Given the description of an element on the screen output the (x, y) to click on. 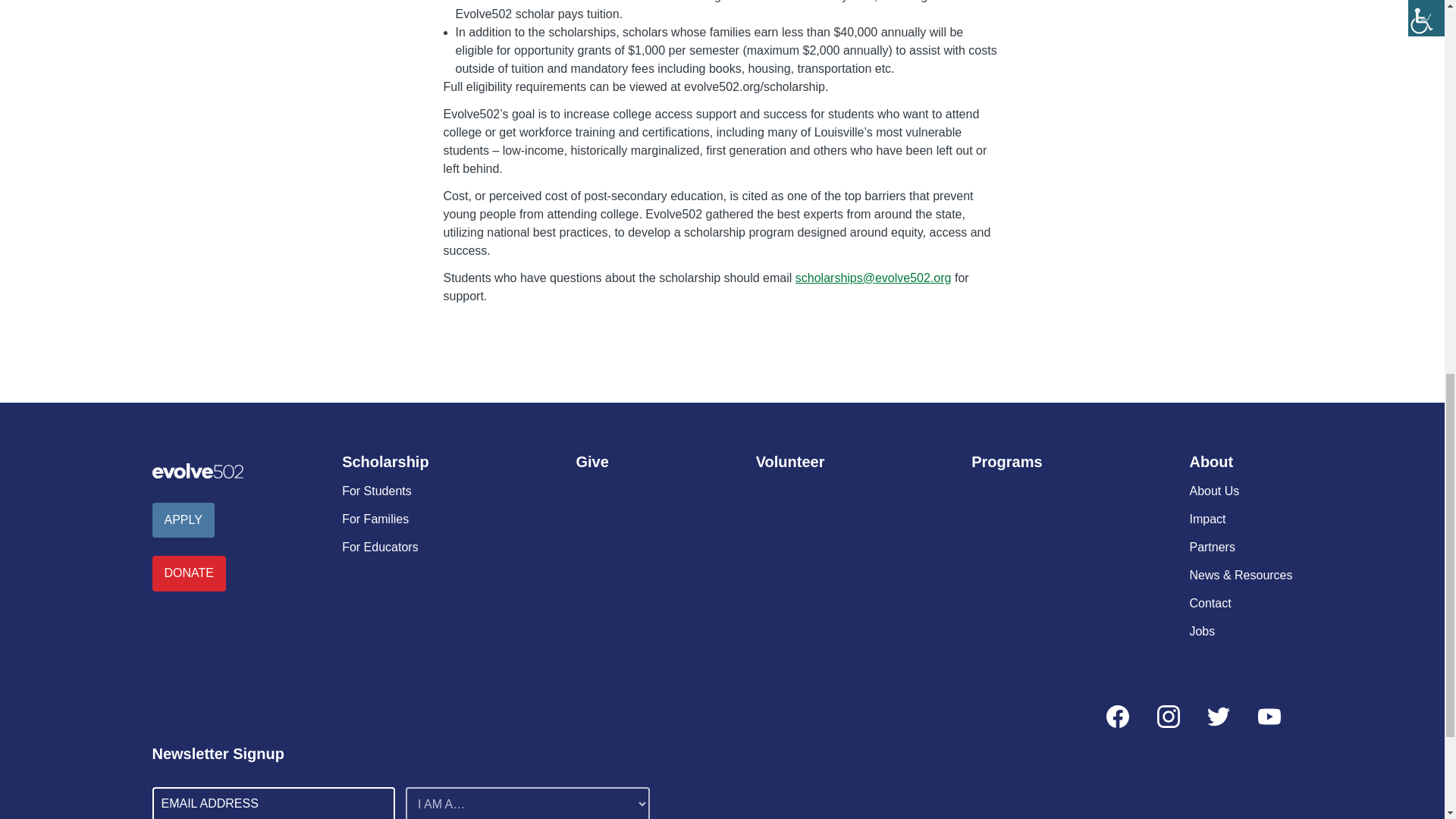
Facebook (1117, 716)
YouTube (1268, 716)
Twitter (1218, 716)
Instagram (1168, 716)
